Given the description of an element on the screen output the (x, y) to click on. 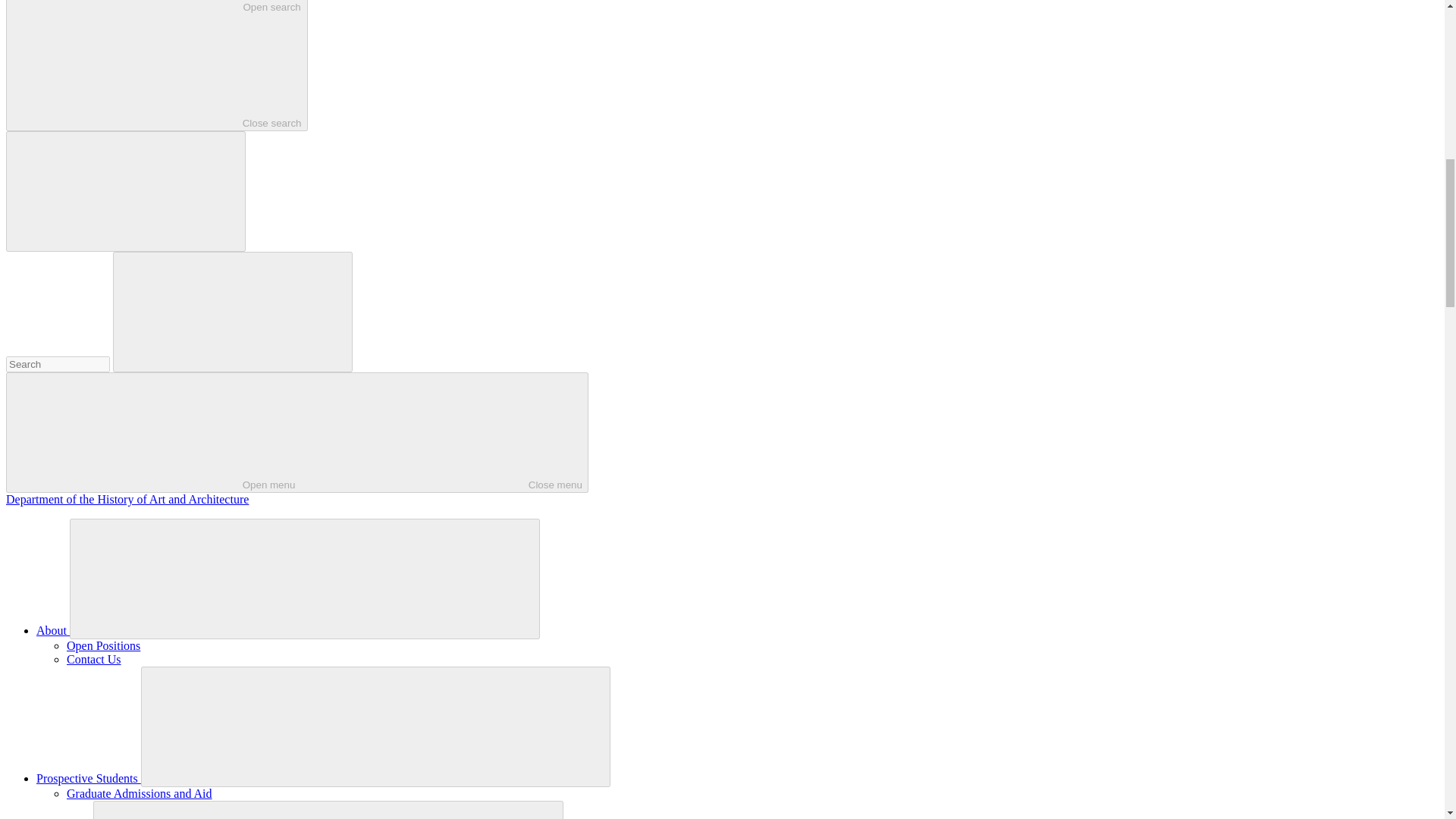
Open menu Close menu (296, 432)
Search (57, 364)
Open Positions (102, 645)
Prospective Students (88, 778)
Department of the History of Art and Architecture (126, 499)
Graduate Admissions and Aid (139, 793)
About (52, 630)
Contact Us (156, 65)
